Given the description of an element on the screen output the (x, y) to click on. 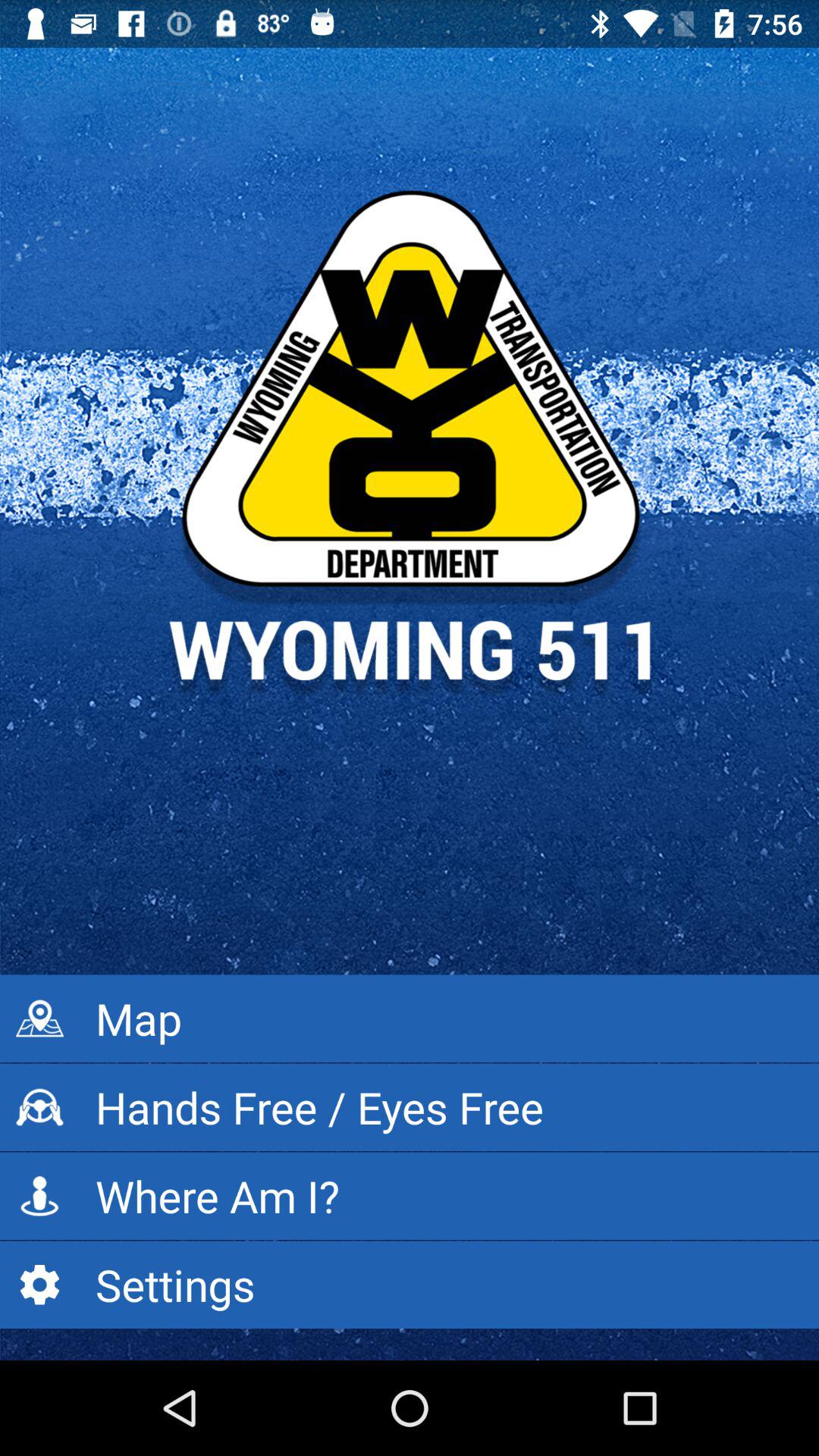
select the app above hands free eyes app (409, 1018)
